Given the description of an element on the screen output the (x, y) to click on. 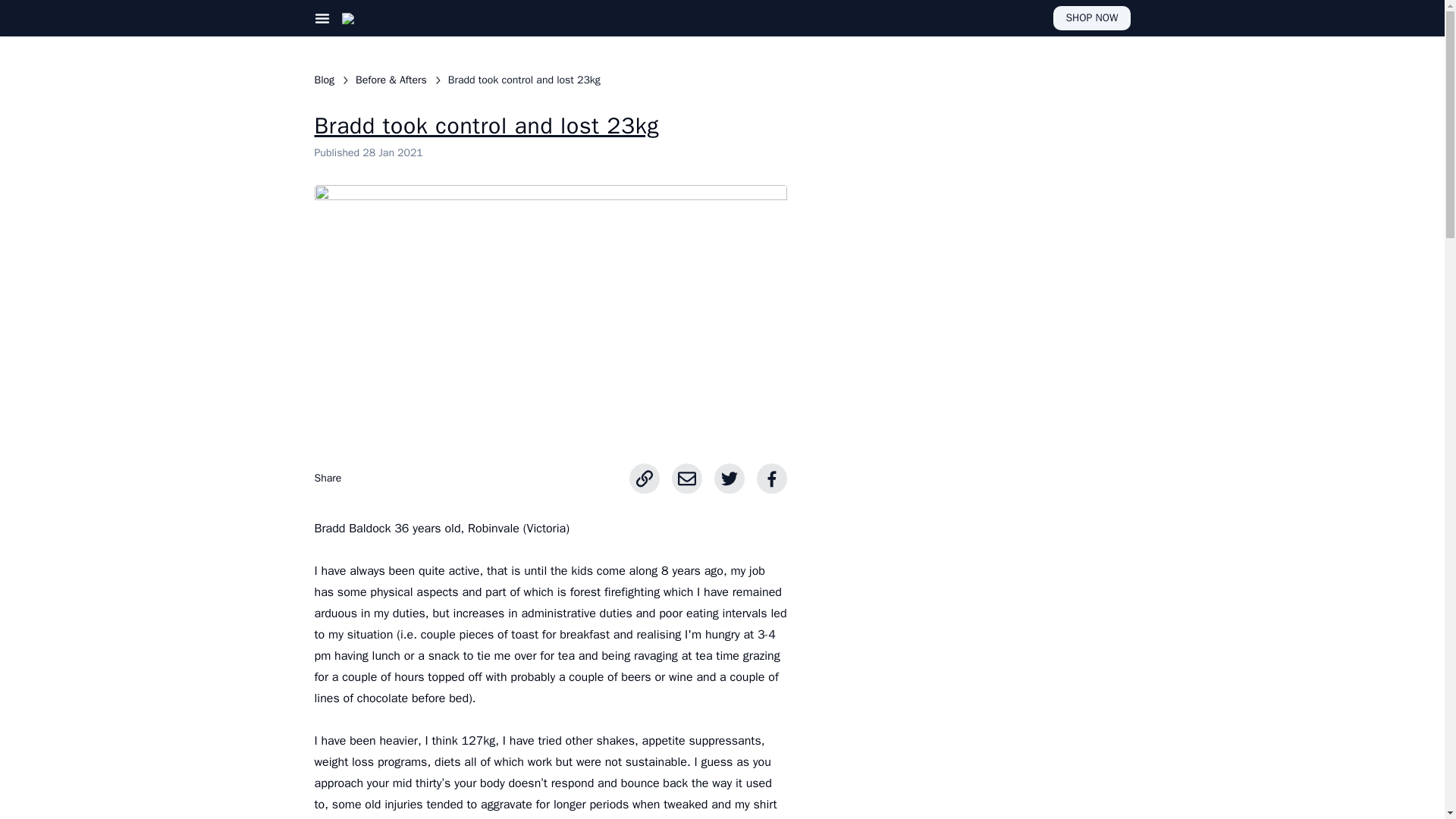
SHOP NOW (1090, 17)
Bradd took control and lost 23kg (523, 79)
Blog (324, 79)
